Given the description of an element on the screen output the (x, y) to click on. 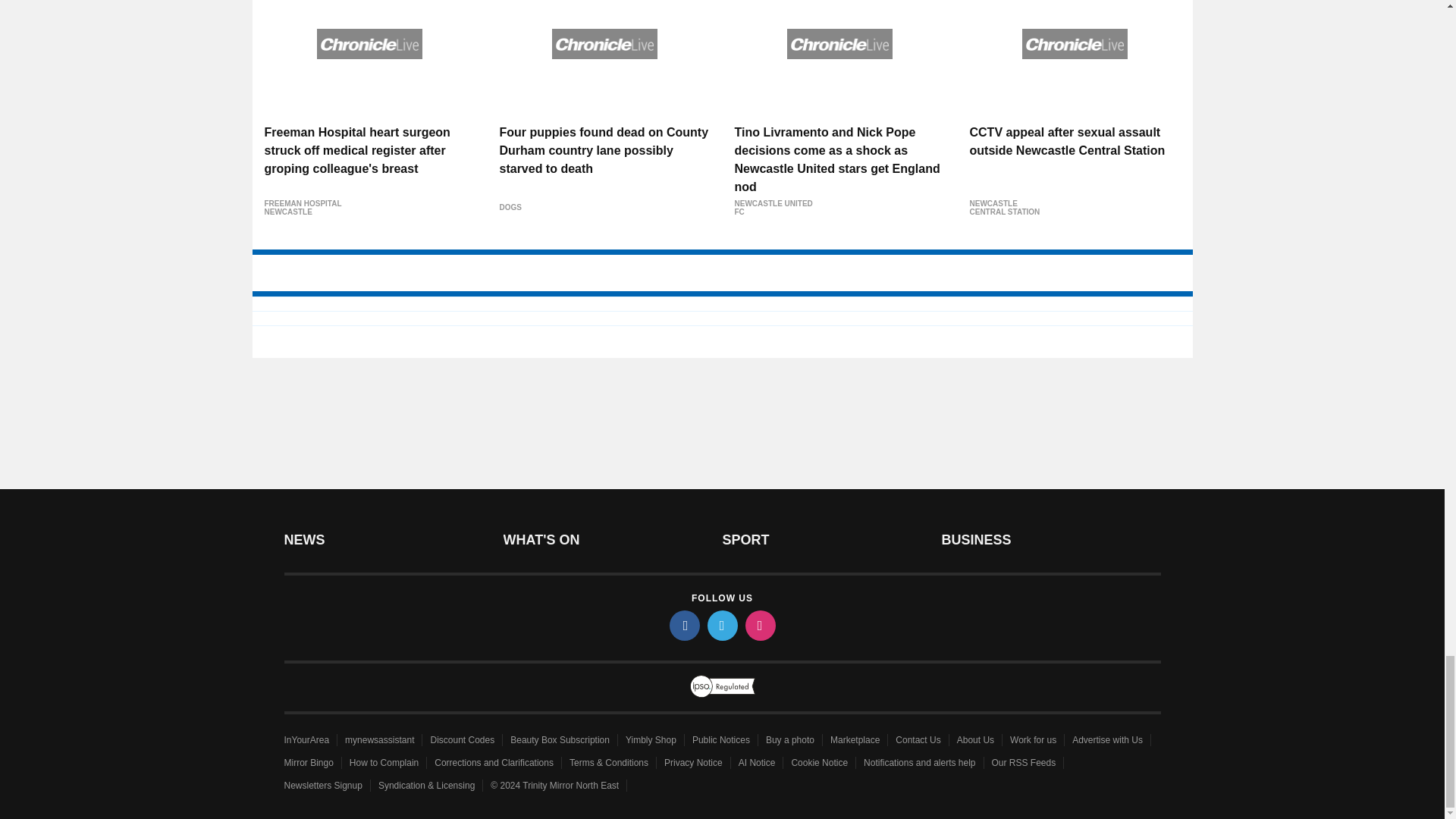
twitter (721, 625)
instagram (759, 625)
facebook (683, 625)
